Given the description of an element on the screen output the (x, y) to click on. 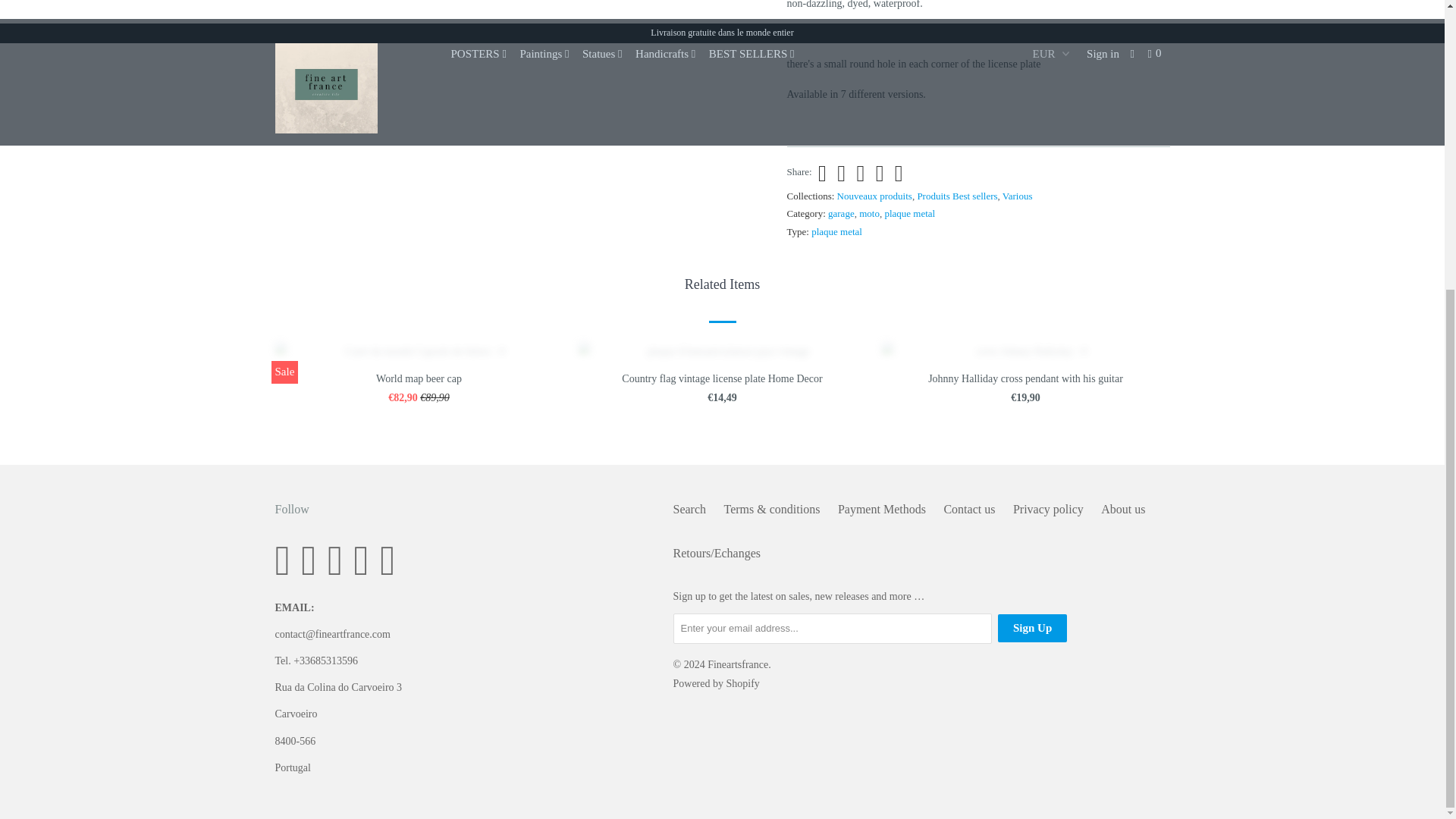
Sign Up (1032, 628)
Nouveaux produits (874, 195)
